Given the description of an element on the screen output the (x, y) to click on. 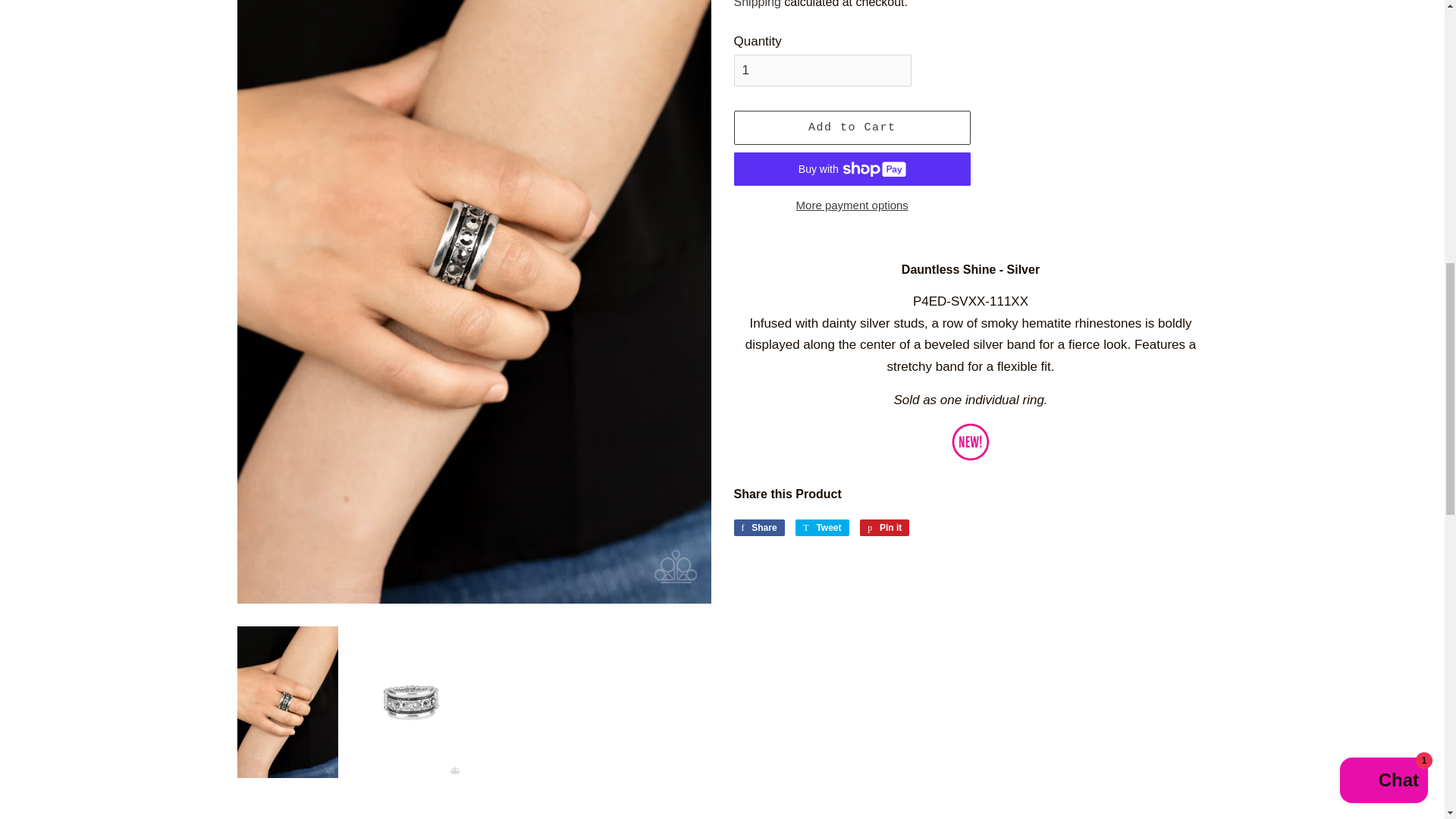
Share on Facebook (758, 527)
Tweet on Twitter (821, 527)
Pin on Pinterest (884, 527)
1 (822, 70)
